Given the description of an element on the screen output the (x, y) to click on. 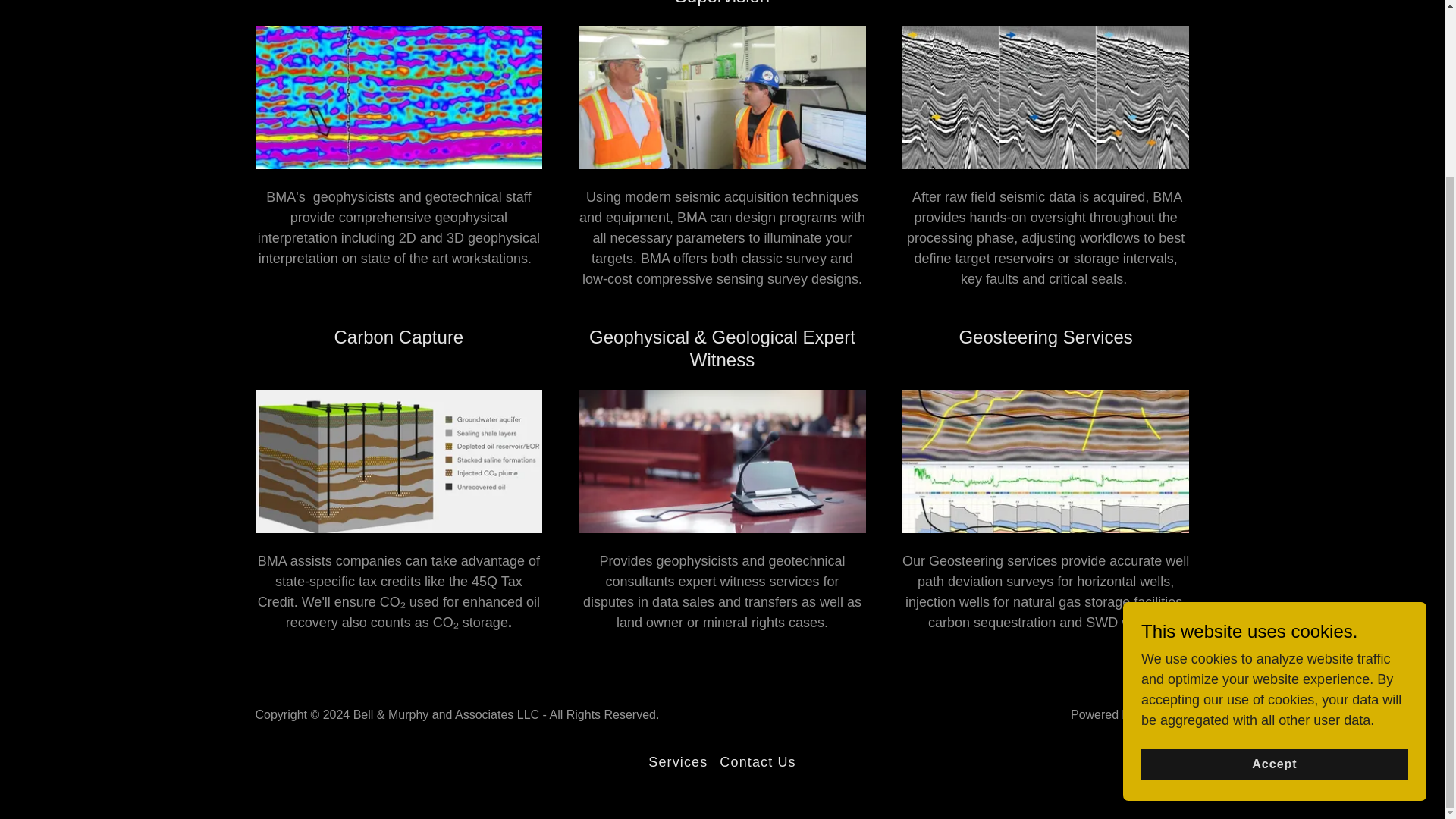
GoDaddy (1163, 714)
Accept (1274, 548)
Services (677, 762)
Contact Us (757, 762)
